Given the description of an element on the screen output the (x, y) to click on. 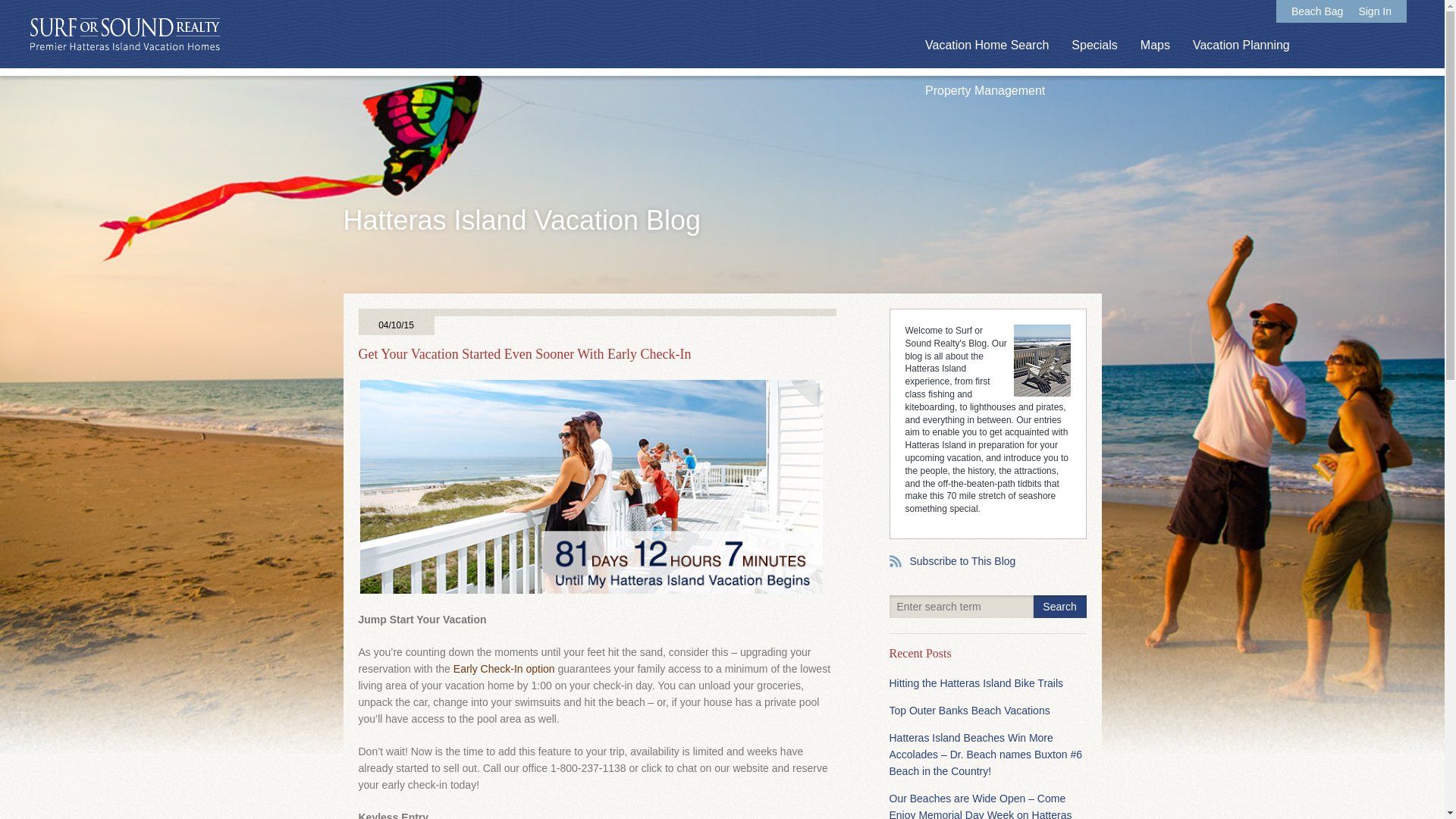
Surf or Sound Realty. Premier Hatteras Island Vacation Homes (124, 34)
Vacation Planning (1241, 44)
Specials (1093, 44)
Beach Bag (1317, 10)
Vacation Home Search (986, 44)
Sign In (1374, 10)
